Given the description of an element on the screen output the (x, y) to click on. 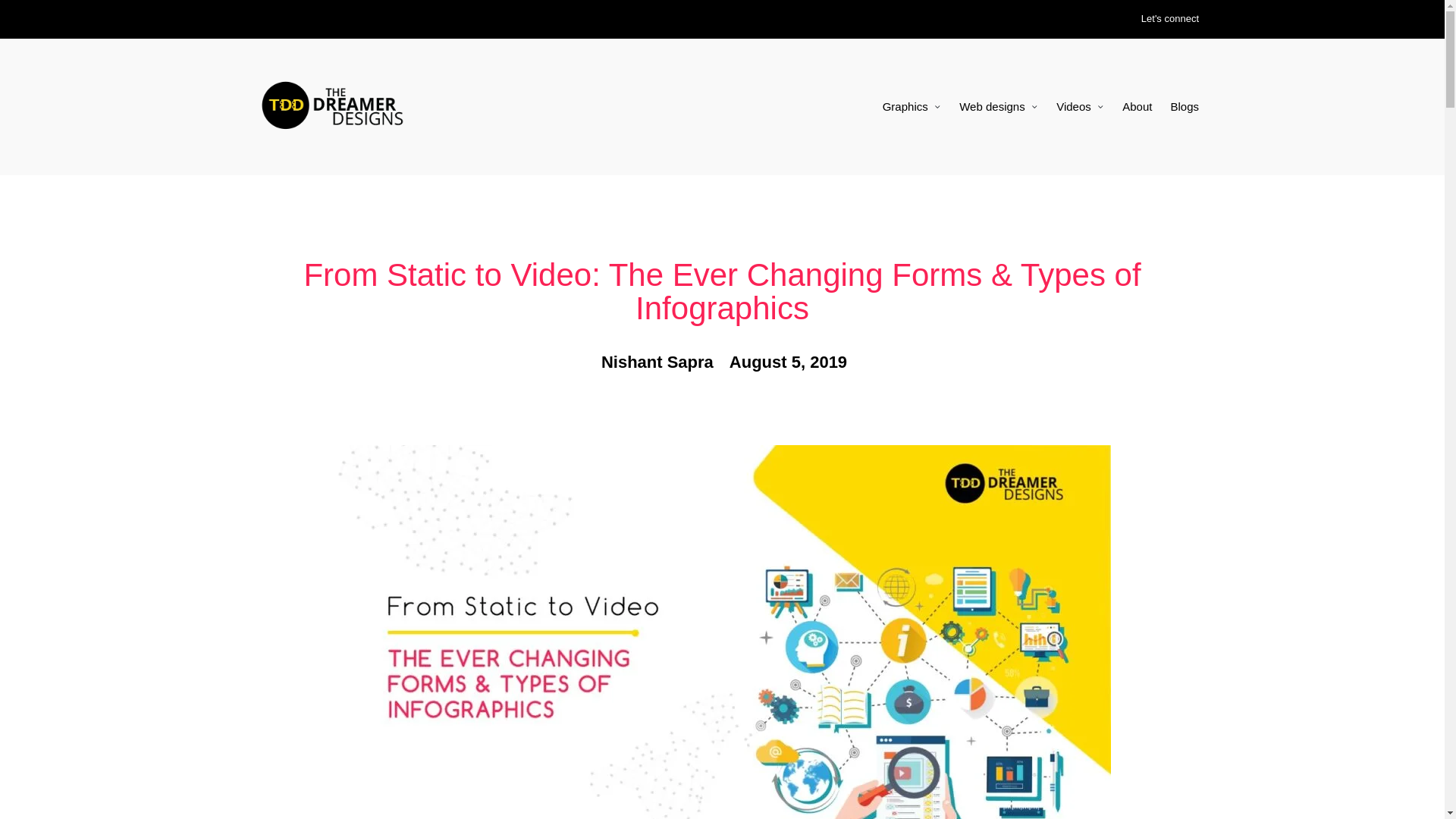
Nishant Sapra (654, 362)
Graphics (912, 106)
Web designs (998, 106)
About (1136, 106)
Blogs (1184, 106)
Videos (1080, 106)
August 5, 2019 (786, 362)
Let's connect (1169, 18)
